Given the description of an element on the screen output the (x, y) to click on. 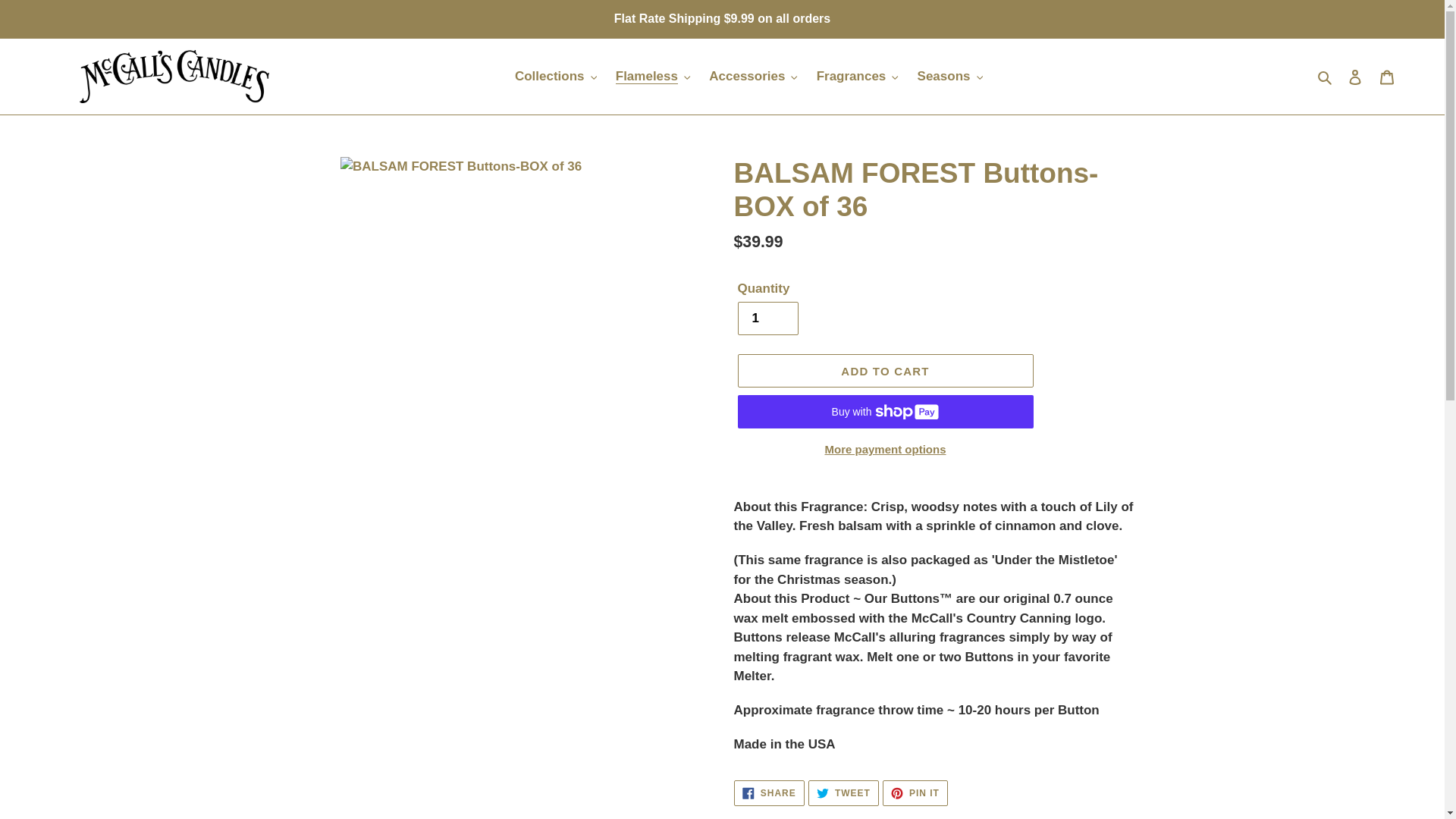
Accessories (753, 76)
1 (766, 318)
Seasons (950, 76)
Flameless (653, 76)
Collections (555, 76)
Fragrances (857, 76)
